Given the description of an element on the screen output the (x, y) to click on. 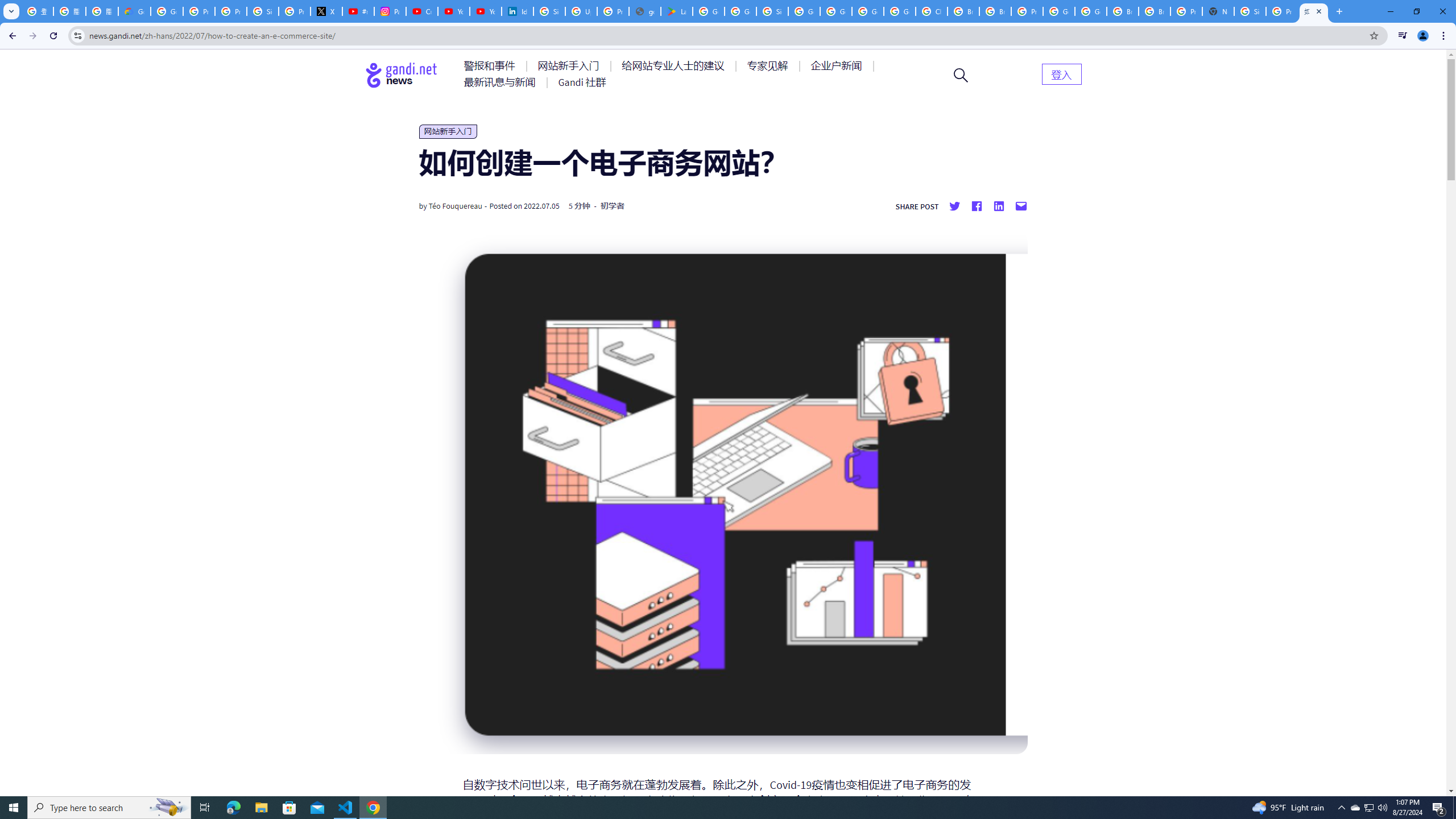
Share by mail (1020, 205)
Share on twitter (953, 205)
Open search form (960, 74)
Browse Chrome as a guest - Computer - Google Chrome Help (1154, 11)
AutomationID: menu-item-77763 (674, 65)
#nbabasketballhighlights - YouTube (358, 11)
AutomationID: menu-item-77764 (769, 65)
Control your music, videos, and more (1402, 35)
Browse Chrome as a guest - Computer - Google Chrome Help (995, 11)
